Given the description of an element on the screen output the (x, y) to click on. 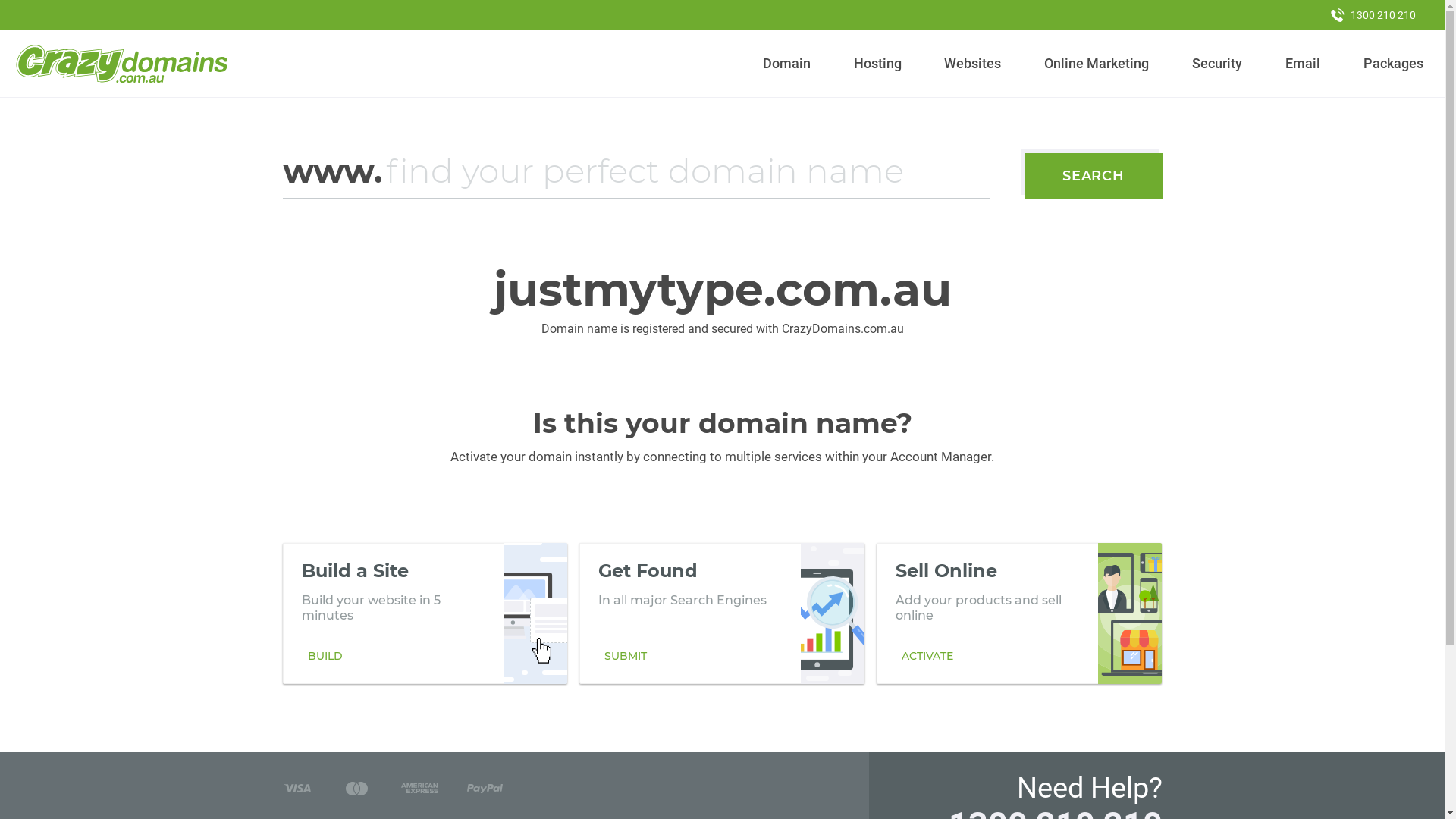
Get Found
In all major Search Engines
SUBMIT Element type: text (721, 613)
SEARCH Element type: text (1092, 175)
Email Element type: text (1302, 63)
Domain Element type: text (786, 63)
Build a Site
Build your website in 5 minutes
BUILD Element type: text (424, 613)
1300 210 210 Element type: text (1373, 15)
Hosting Element type: text (877, 63)
Security Element type: text (1217, 63)
Packages Element type: text (1392, 63)
Online Marketing Element type: text (1096, 63)
Websites Element type: text (972, 63)
Sell Online
Add your products and sell online
ACTIVATE Element type: text (1018, 613)
